Given the description of an element on the screen output the (x, y) to click on. 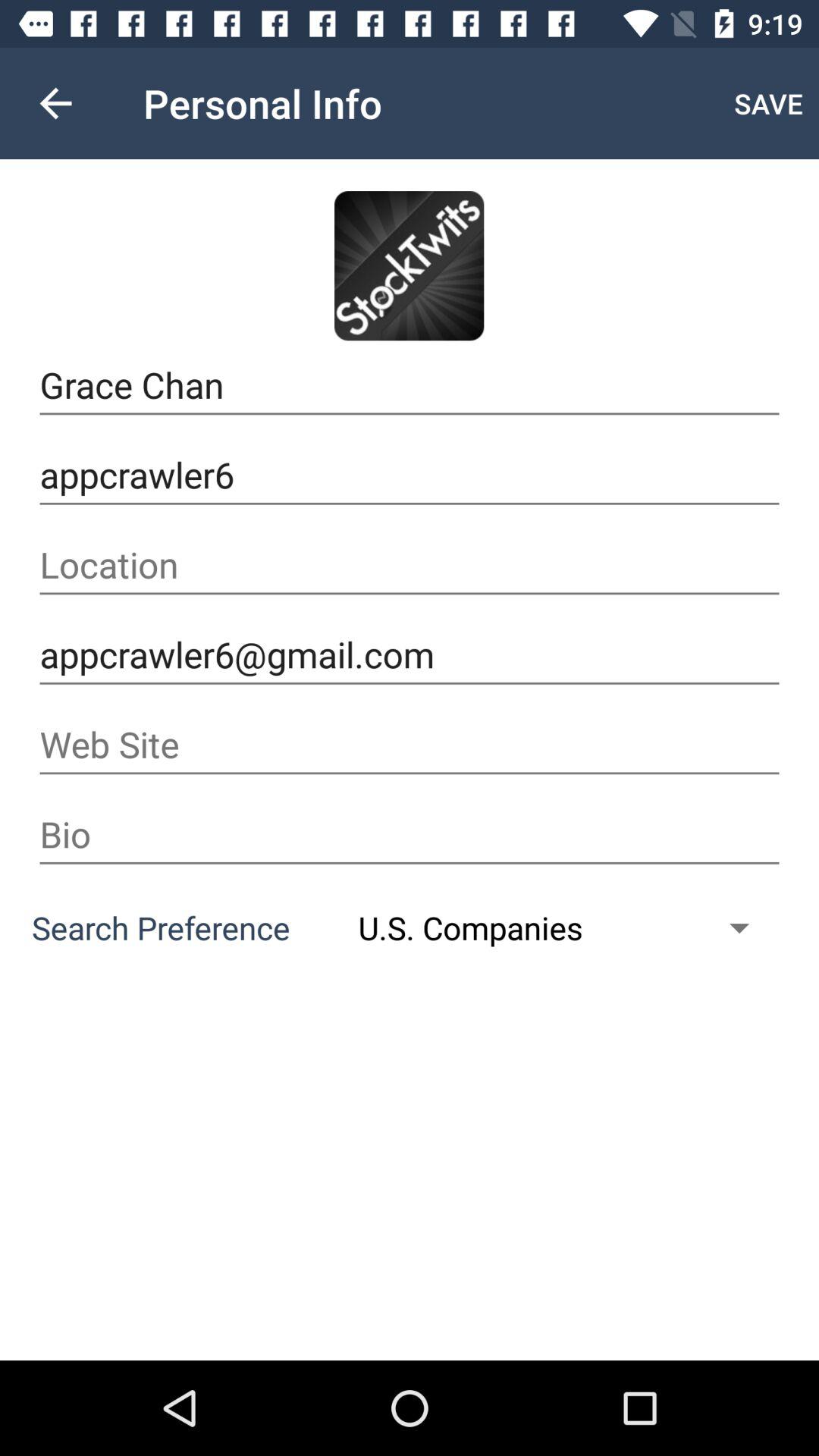
turn on icon next to personal info icon (55, 103)
